Given the description of an element on the screen output the (x, y) to click on. 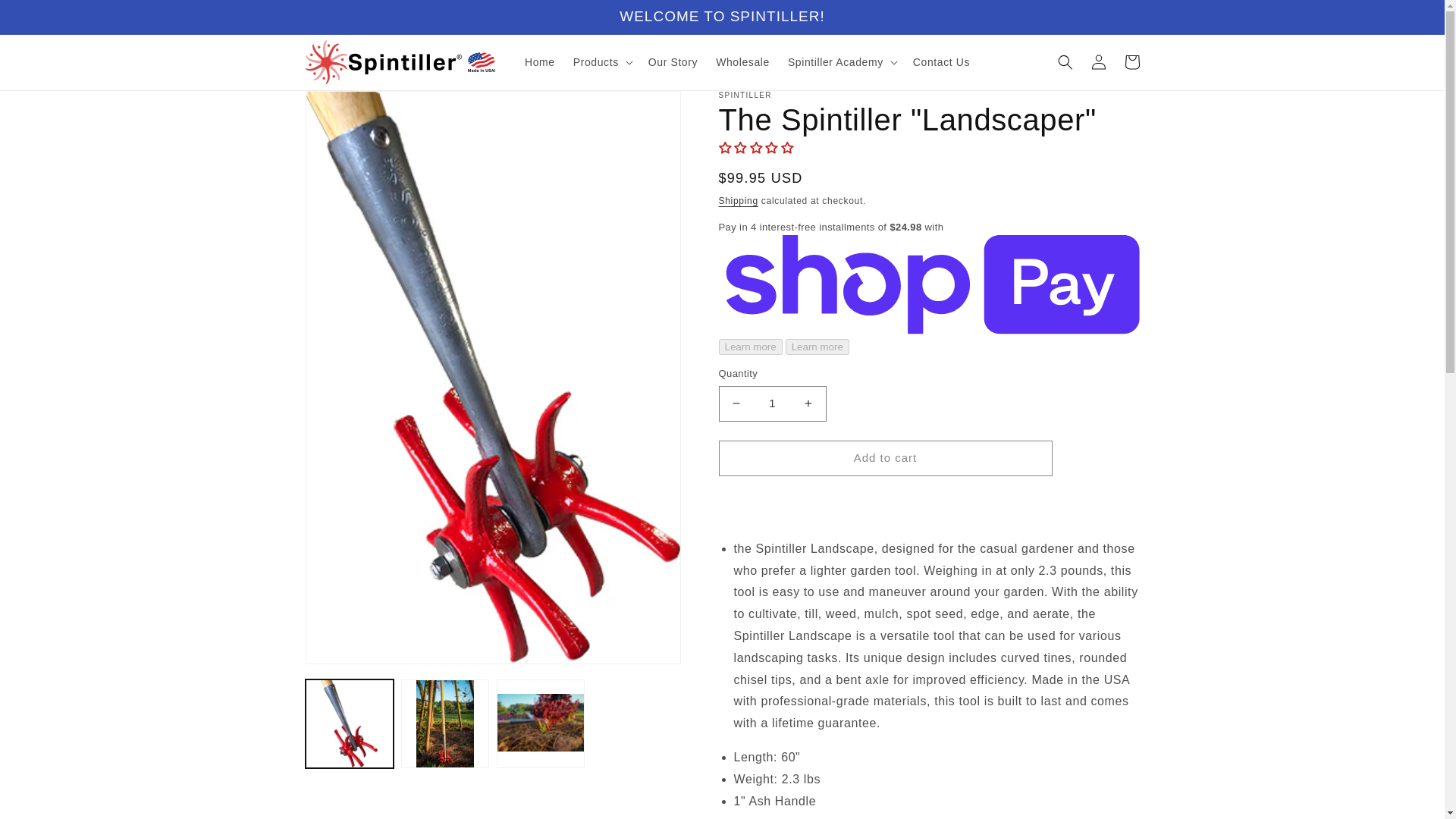
Skip to product information (350, 108)
Home (539, 61)
1 (773, 403)
Our Story (672, 61)
Wholesale (742, 61)
Cart (1131, 61)
Shipping (738, 200)
Skip to content (45, 17)
Contact Us (941, 61)
Log in (1098, 61)
